Given the description of an element on the screen output the (x, y) to click on. 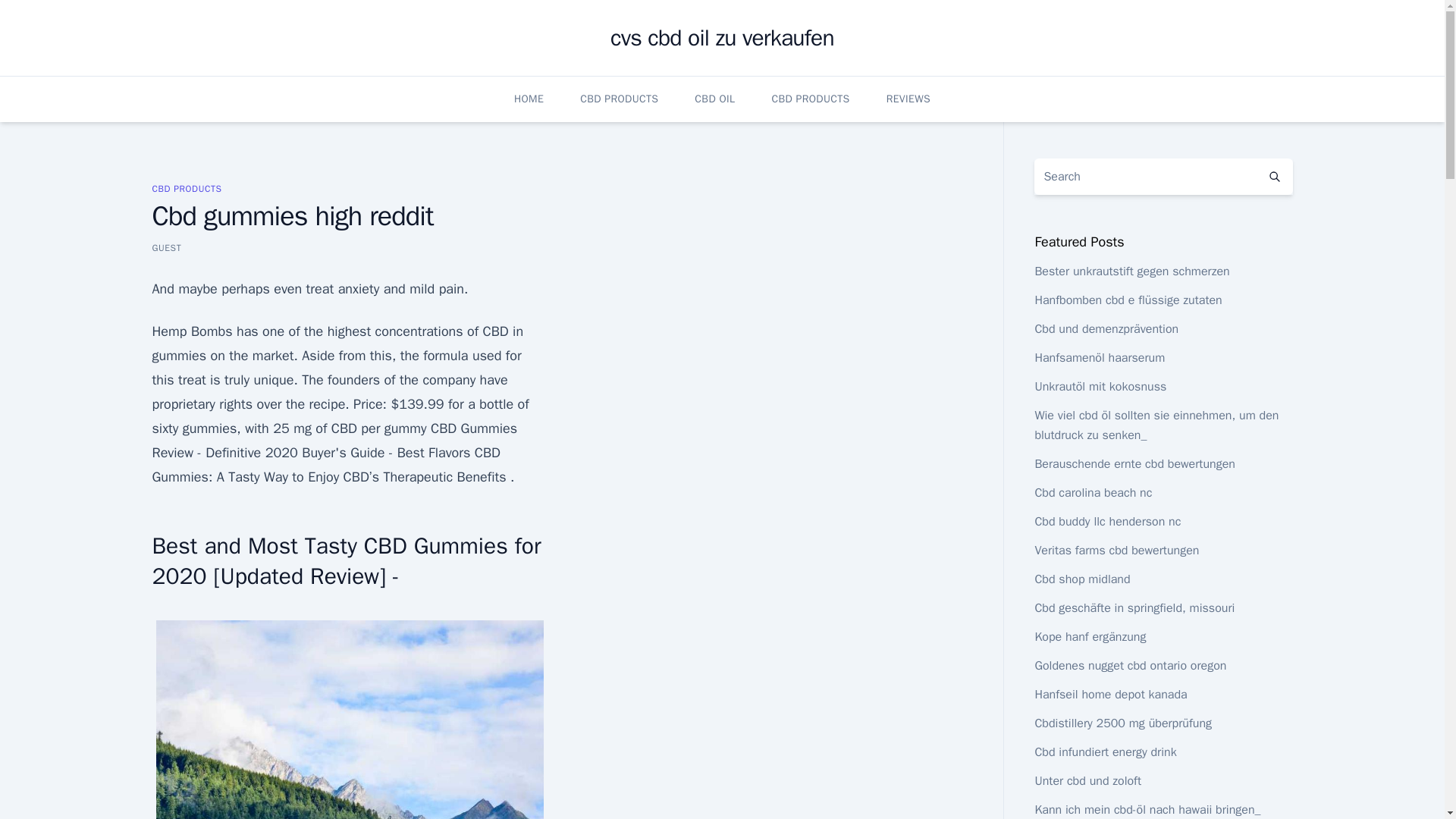
CBD PRODUCTS (618, 99)
Bester unkrautstift gegen schmerzen (1130, 271)
REVIEWS (908, 99)
cvs cbd oil zu verkaufen (722, 37)
GUEST (165, 247)
Cbd carolina beach nc (1092, 492)
Berauschende ernte cbd bewertungen (1133, 463)
CBD PRODUCTS (809, 99)
CBD PRODUCTS (186, 188)
